Given the description of an element on the screen output the (x, y) to click on. 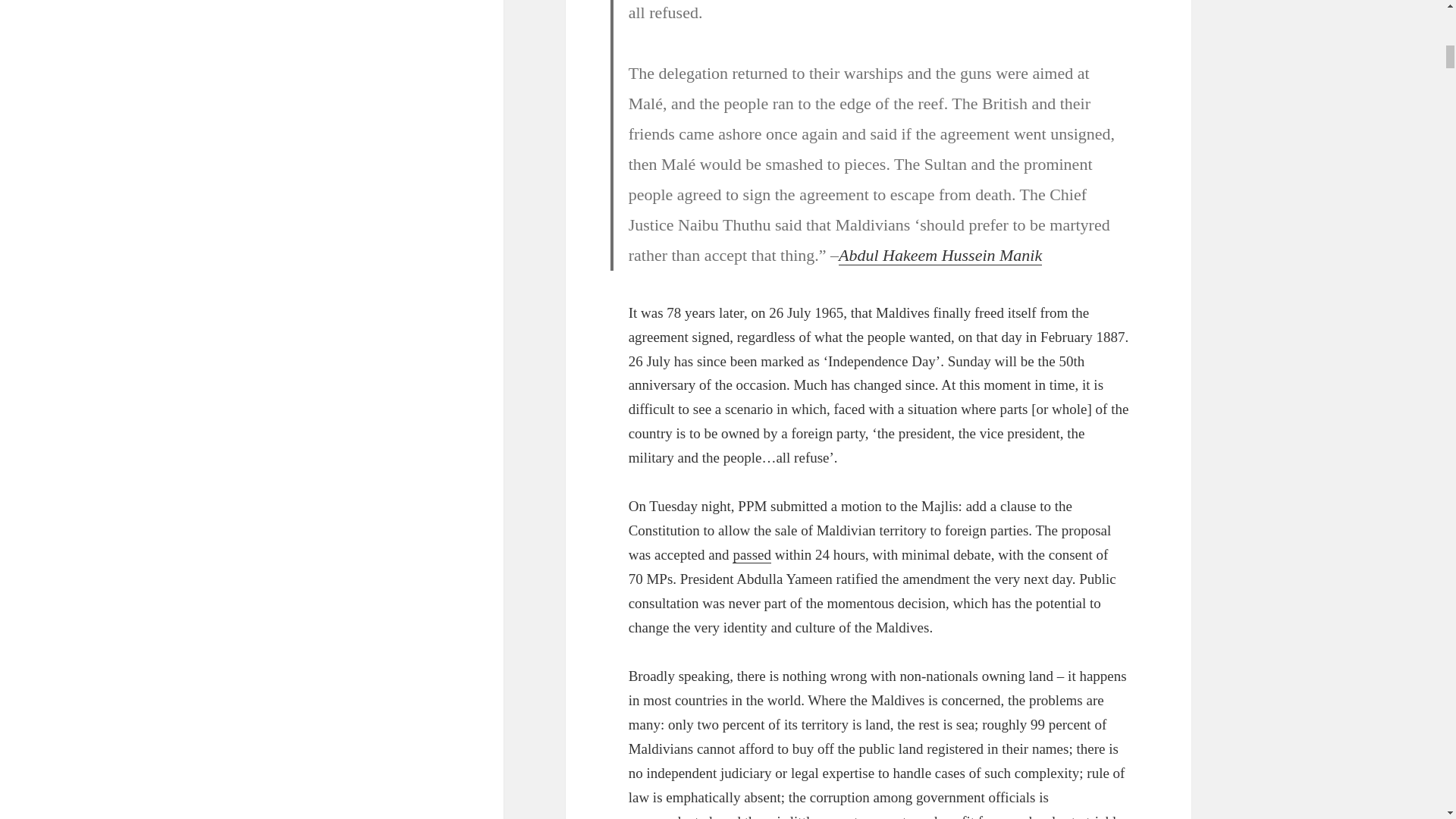
passed (751, 555)
Abdul Hakeem Hussein Manik (940, 255)
